Given the description of an element on the screen output the (x, y) to click on. 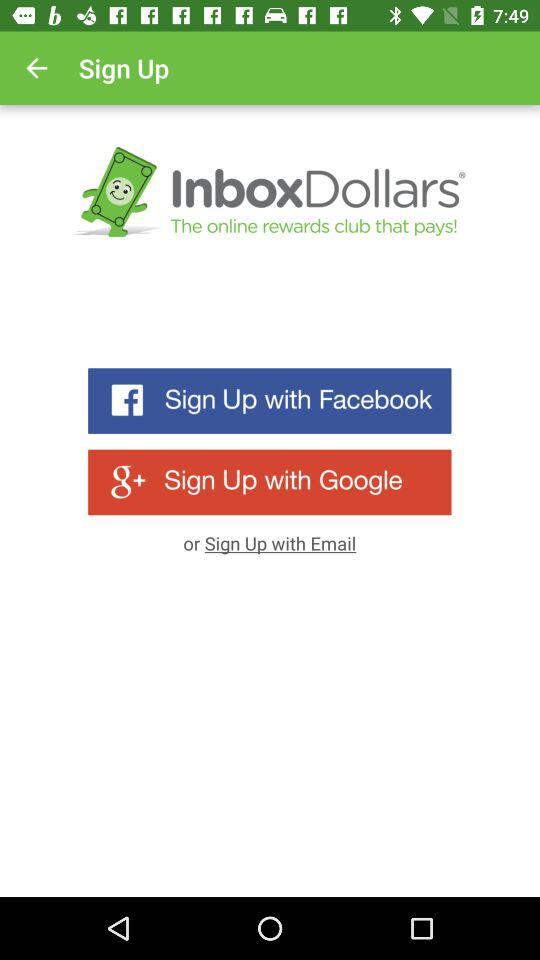
redirect to your facebook page (269, 400)
